Given the description of an element on the screen output the (x, y) to click on. 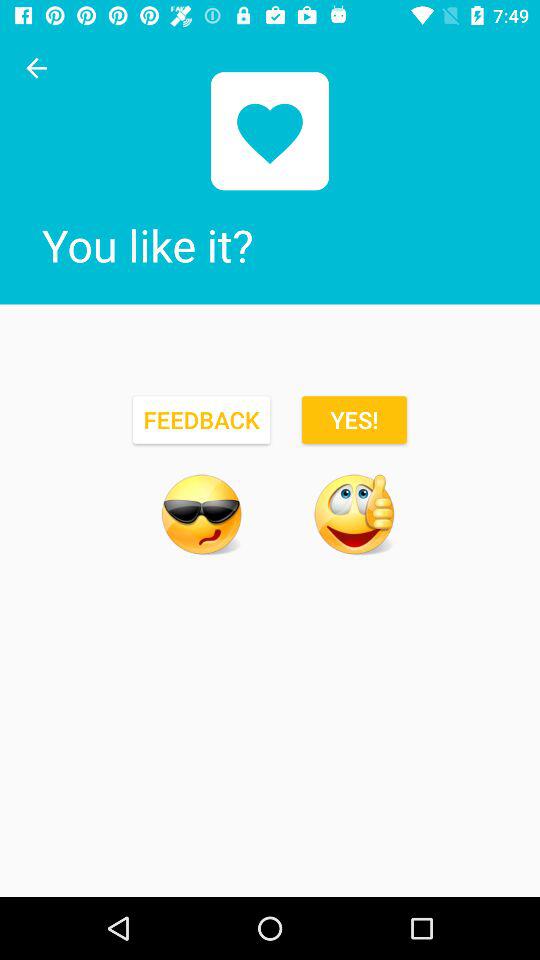
go back to previous screen (36, 68)
